Given the description of an element on the screen output the (x, y) to click on. 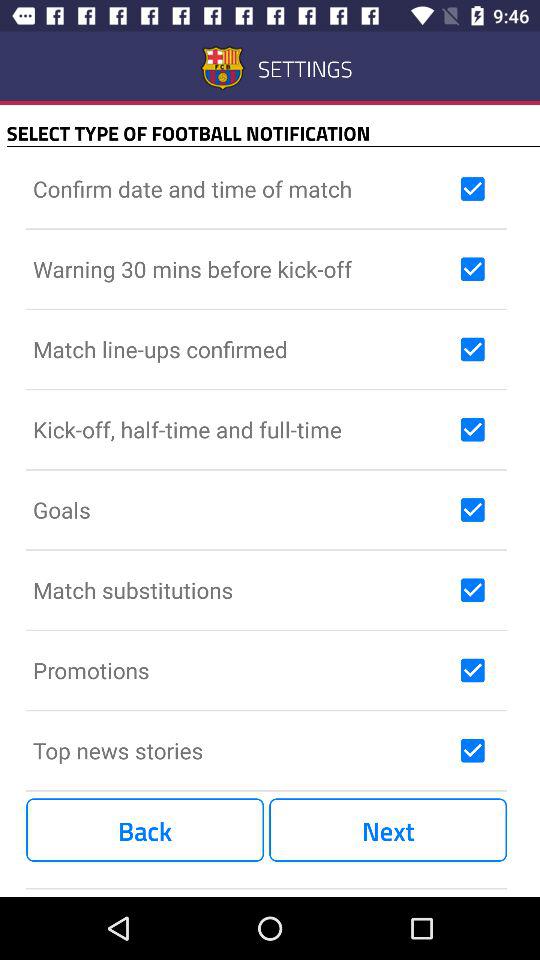
select to receive notification (472, 349)
